Given the description of an element on the screen output the (x, y) to click on. 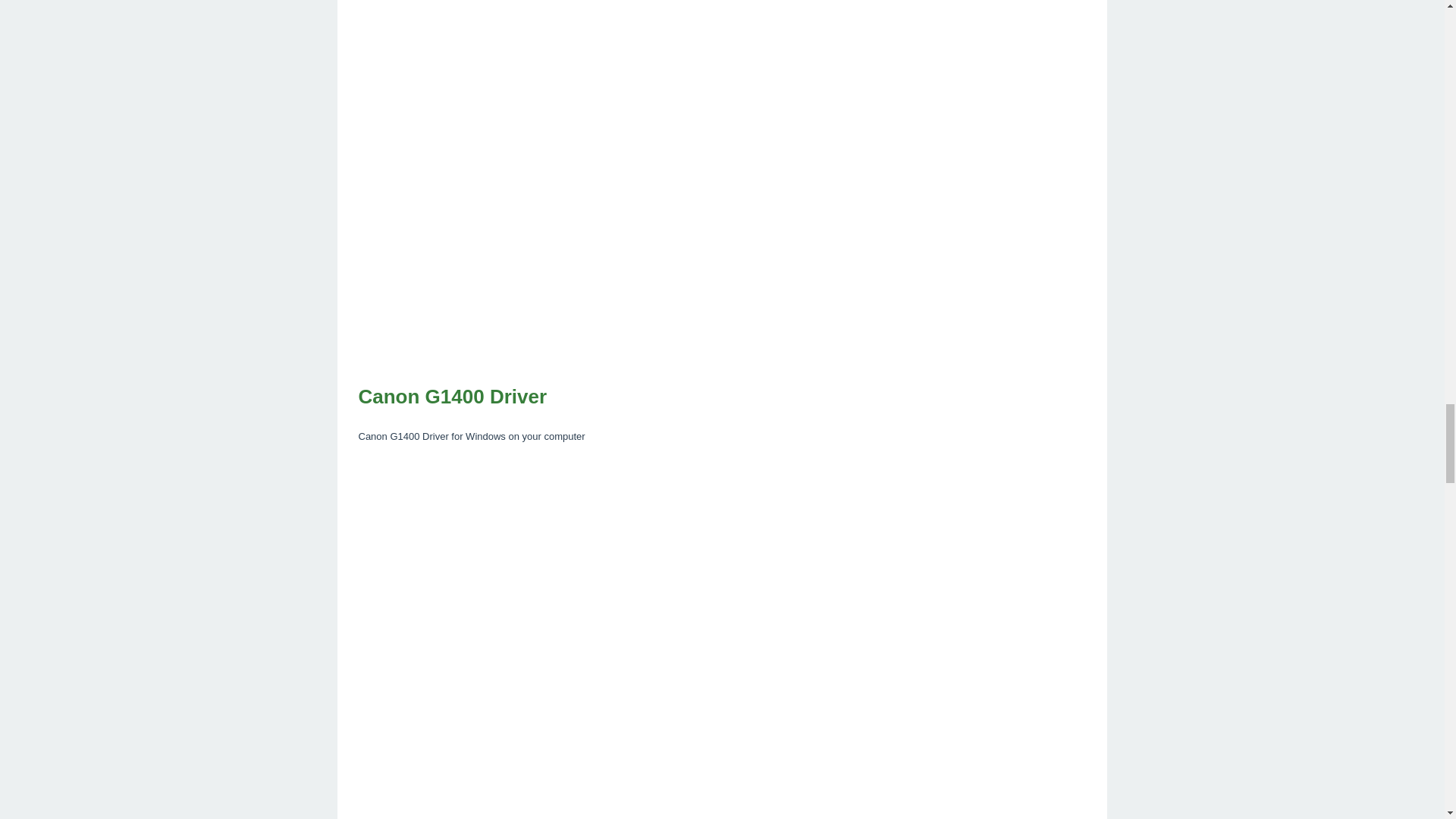
Canon G1400 Driver (722, 397)
